Given the description of an element on the screen output the (x, y) to click on. 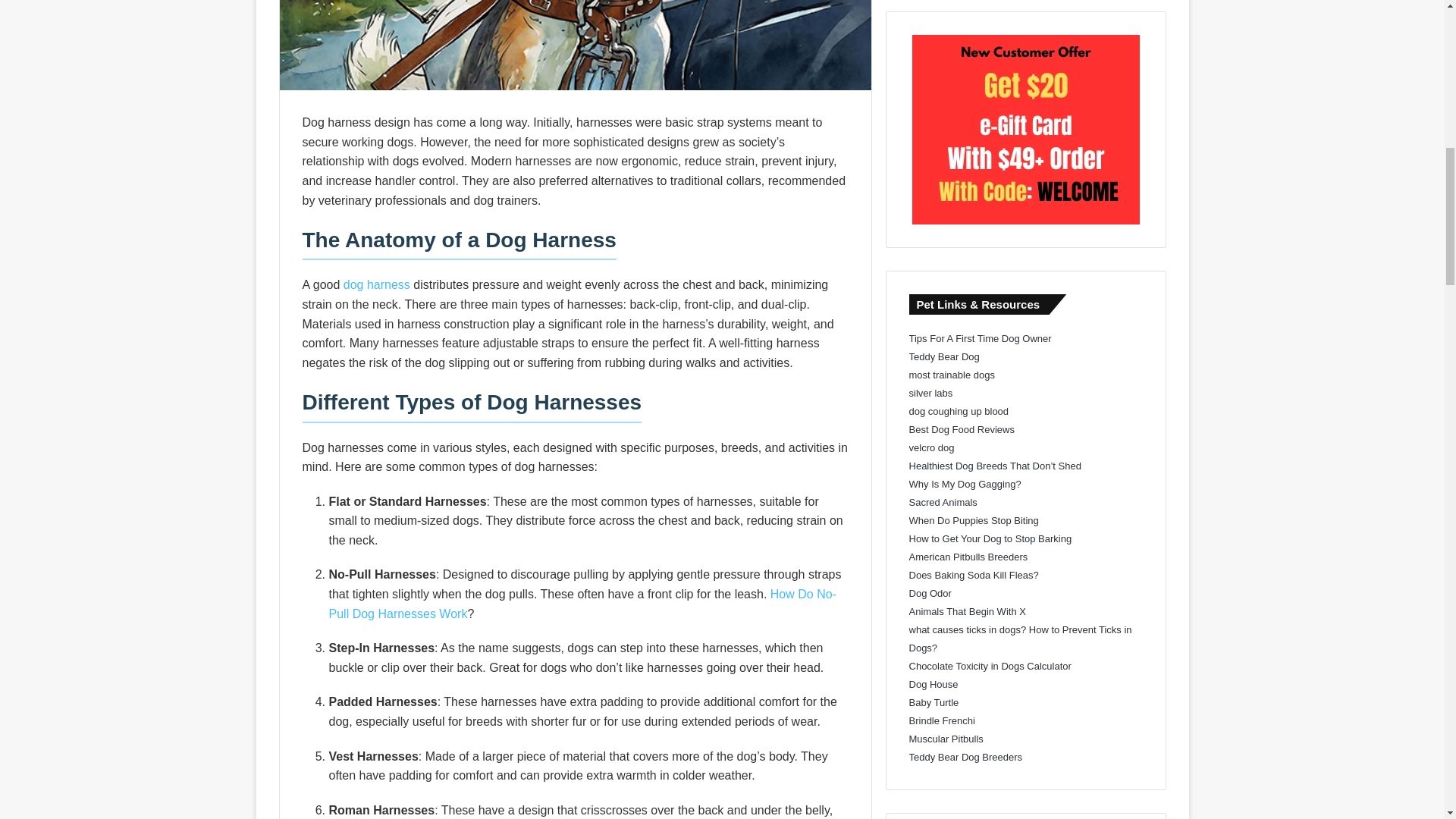
dog harness (376, 284)
How Do No-Pull Dog Harnesses Work (582, 603)
